Given the description of an element on the screen output the (x, y) to click on. 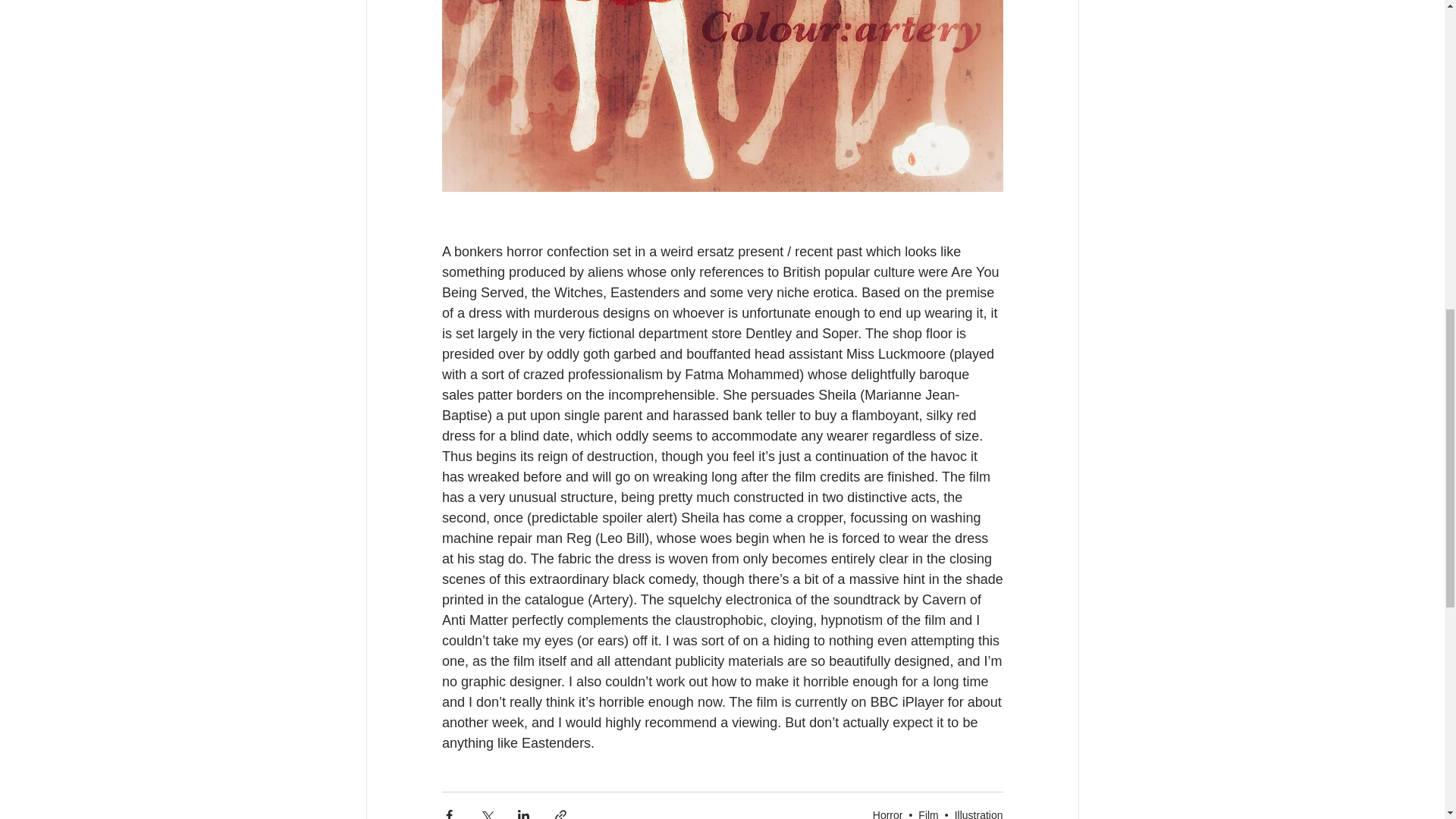
Illustration (979, 813)
Film (927, 813)
Horror (887, 813)
